Given the description of an element on the screen output the (x, y) to click on. 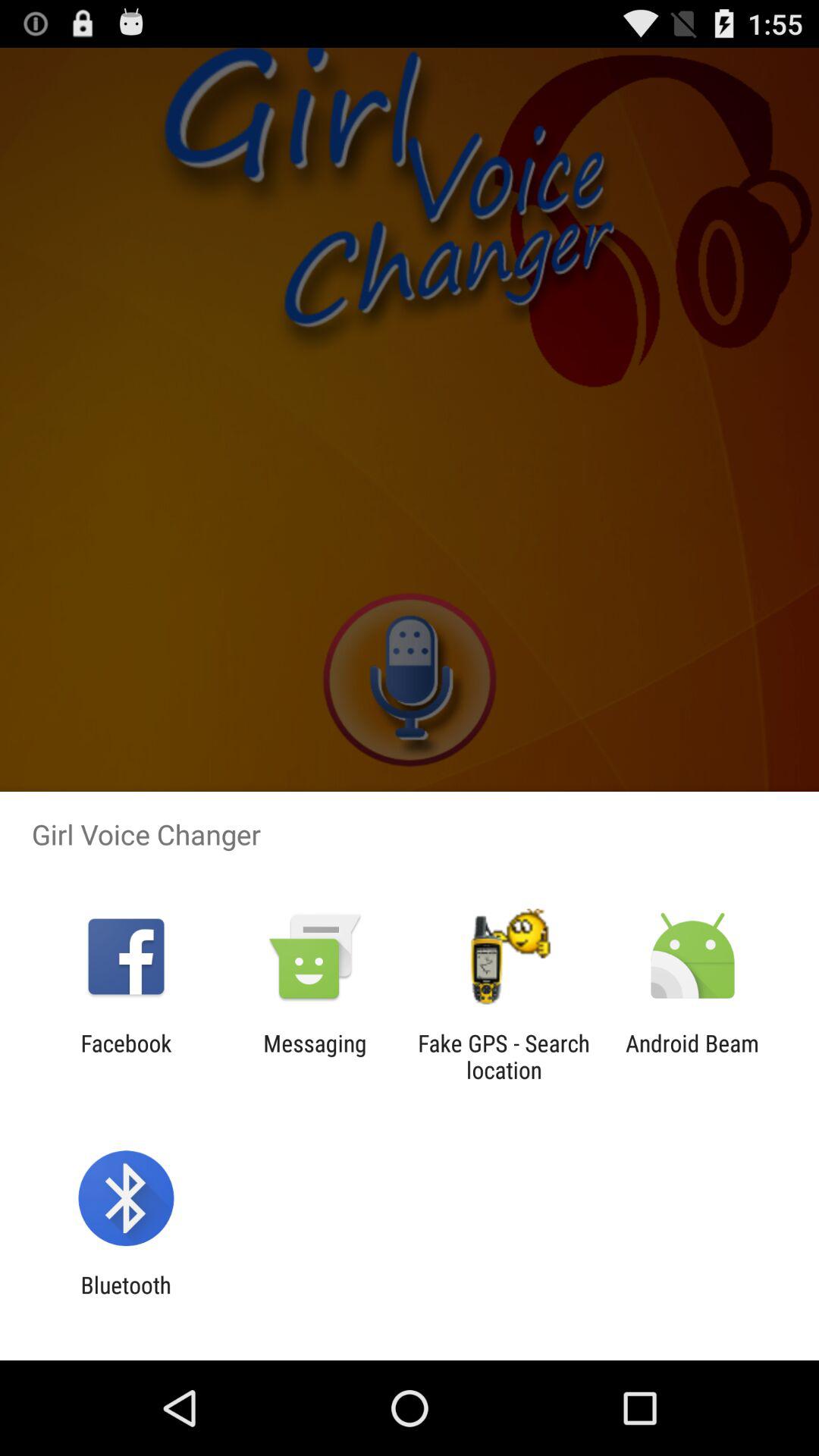
jump to the android beam icon (692, 1056)
